Given the description of an element on the screen output the (x, y) to click on. 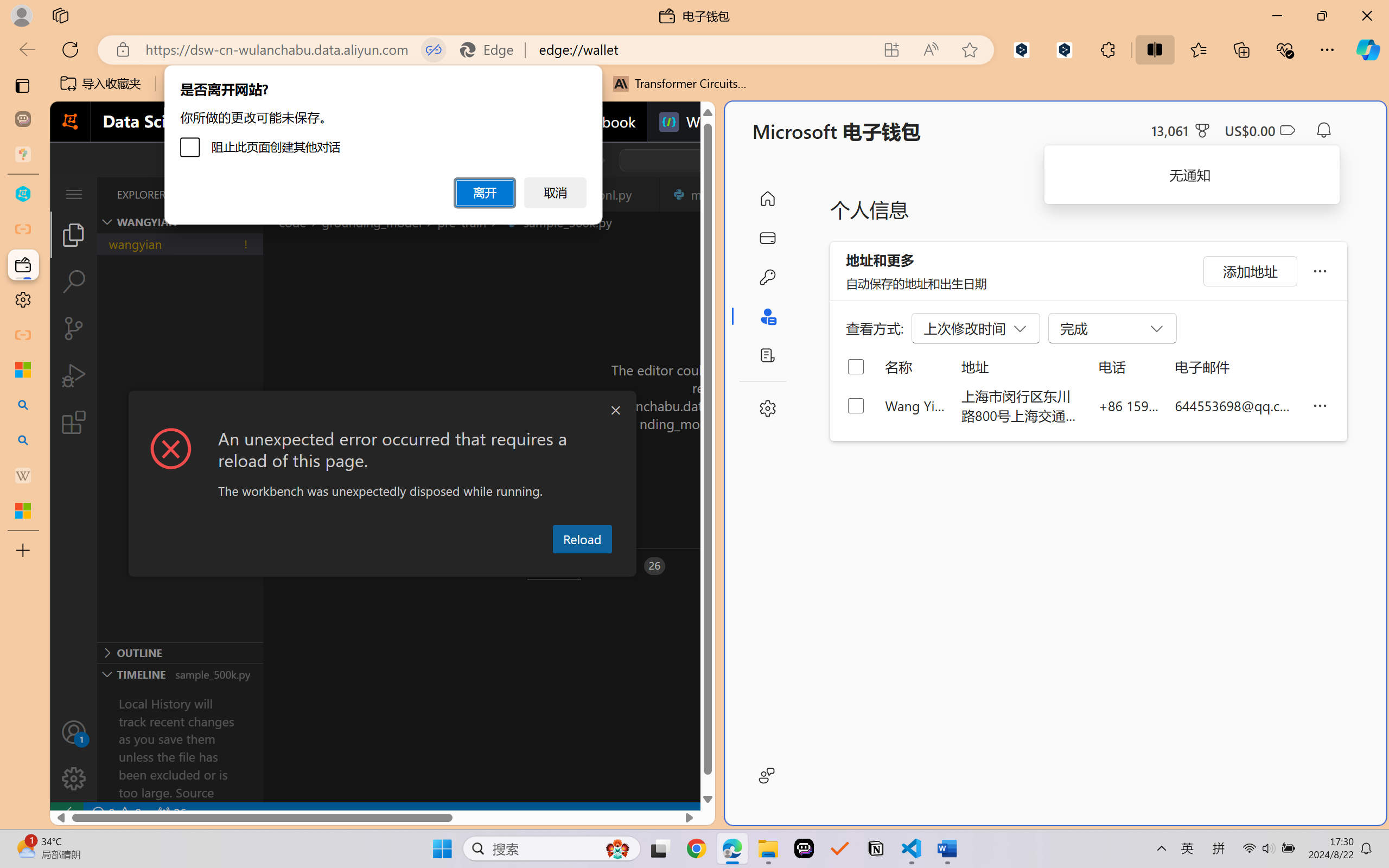
wangyian_dsw - DSW (22, 194)
+86 159 0032 4640 (1128, 405)
Google Chrome (696, 848)
remote (66, 812)
